Given the description of an element on the screen output the (x, y) to click on. 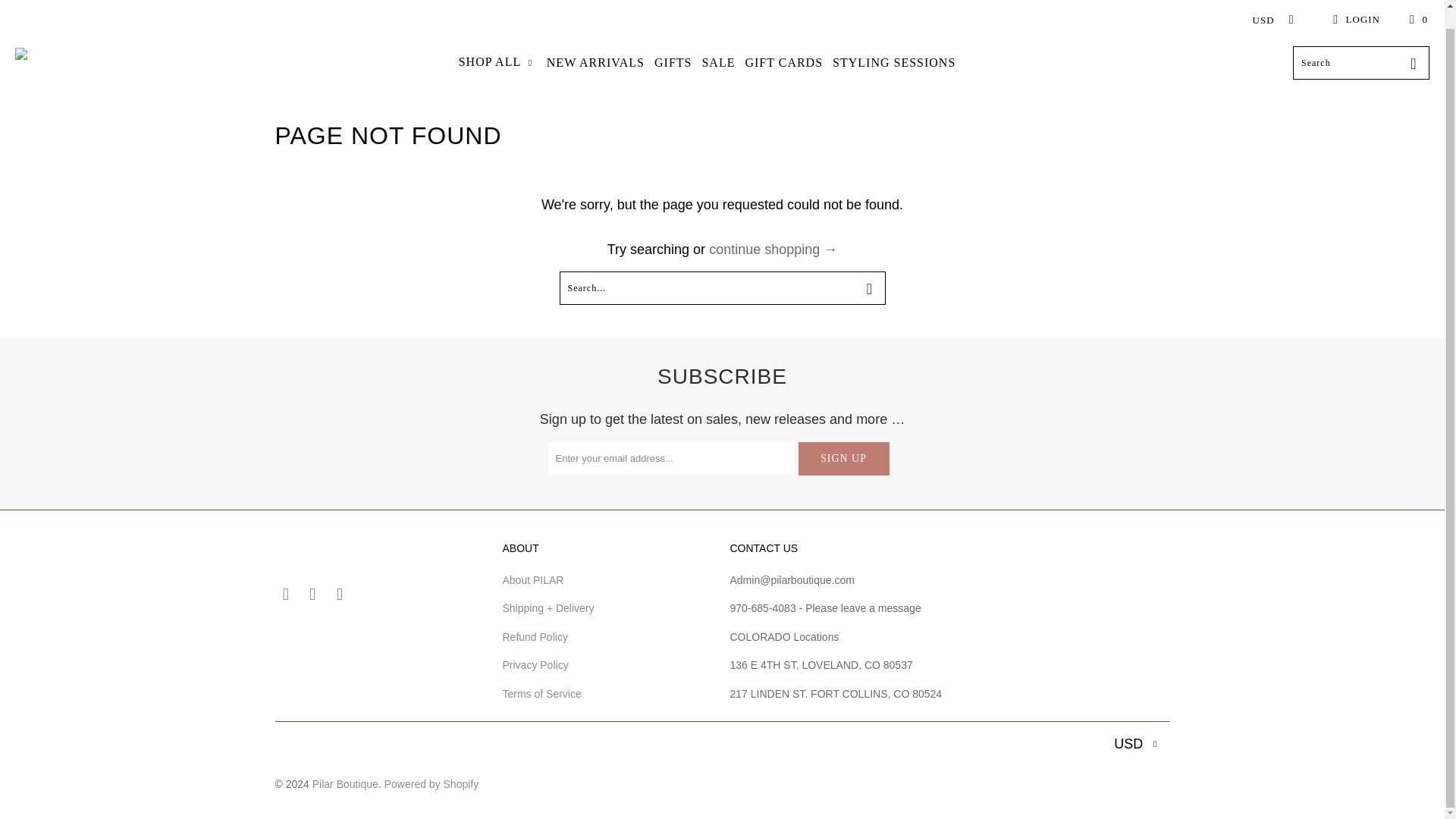
Sign Up (842, 458)
Pilar Boutique (67, 62)
My Account  (1353, 20)
